Given the description of an element on the screen output the (x, y) to click on. 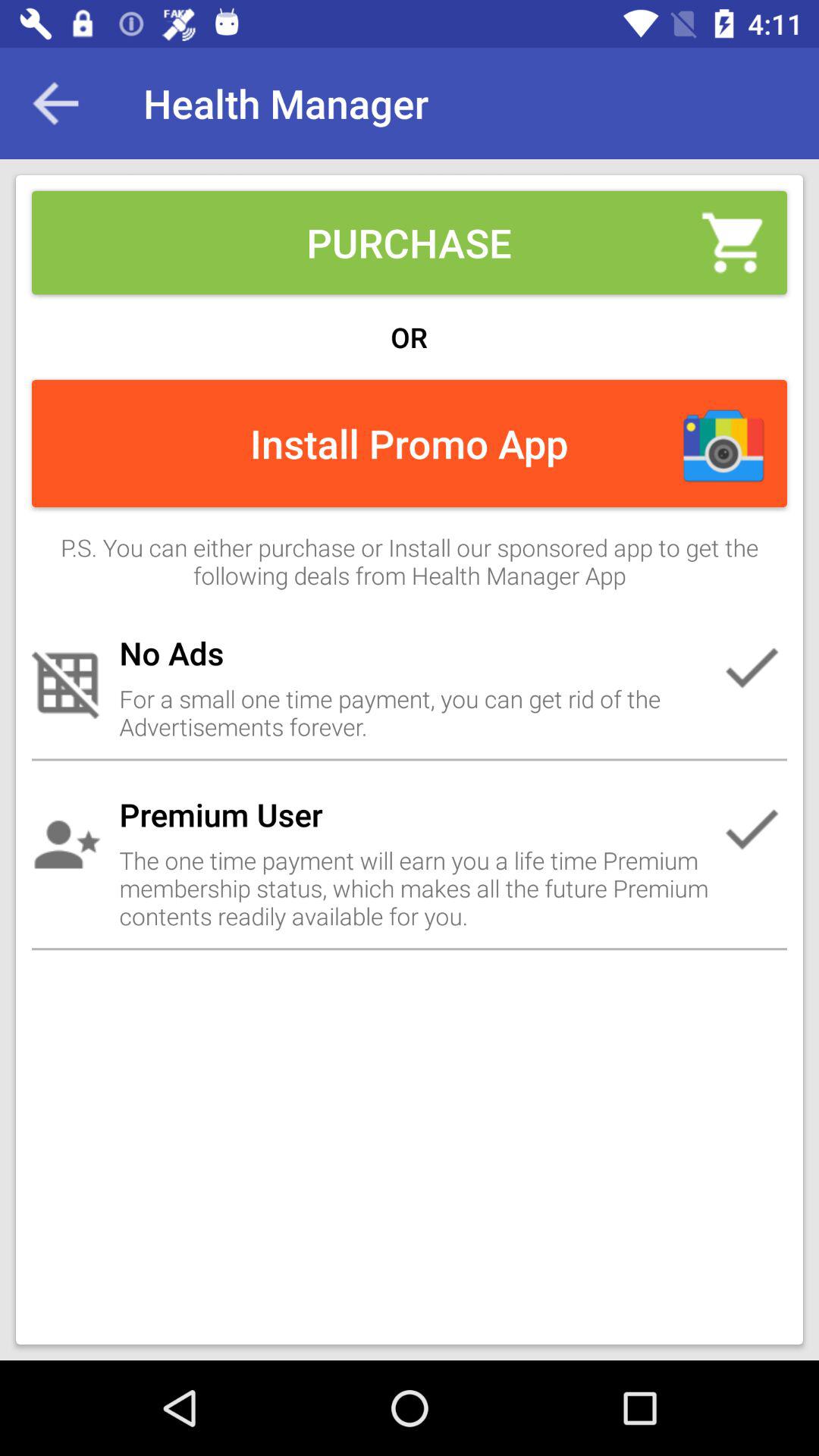
click app next to health manager (55, 103)
